Given the description of an element on the screen output the (x, y) to click on. 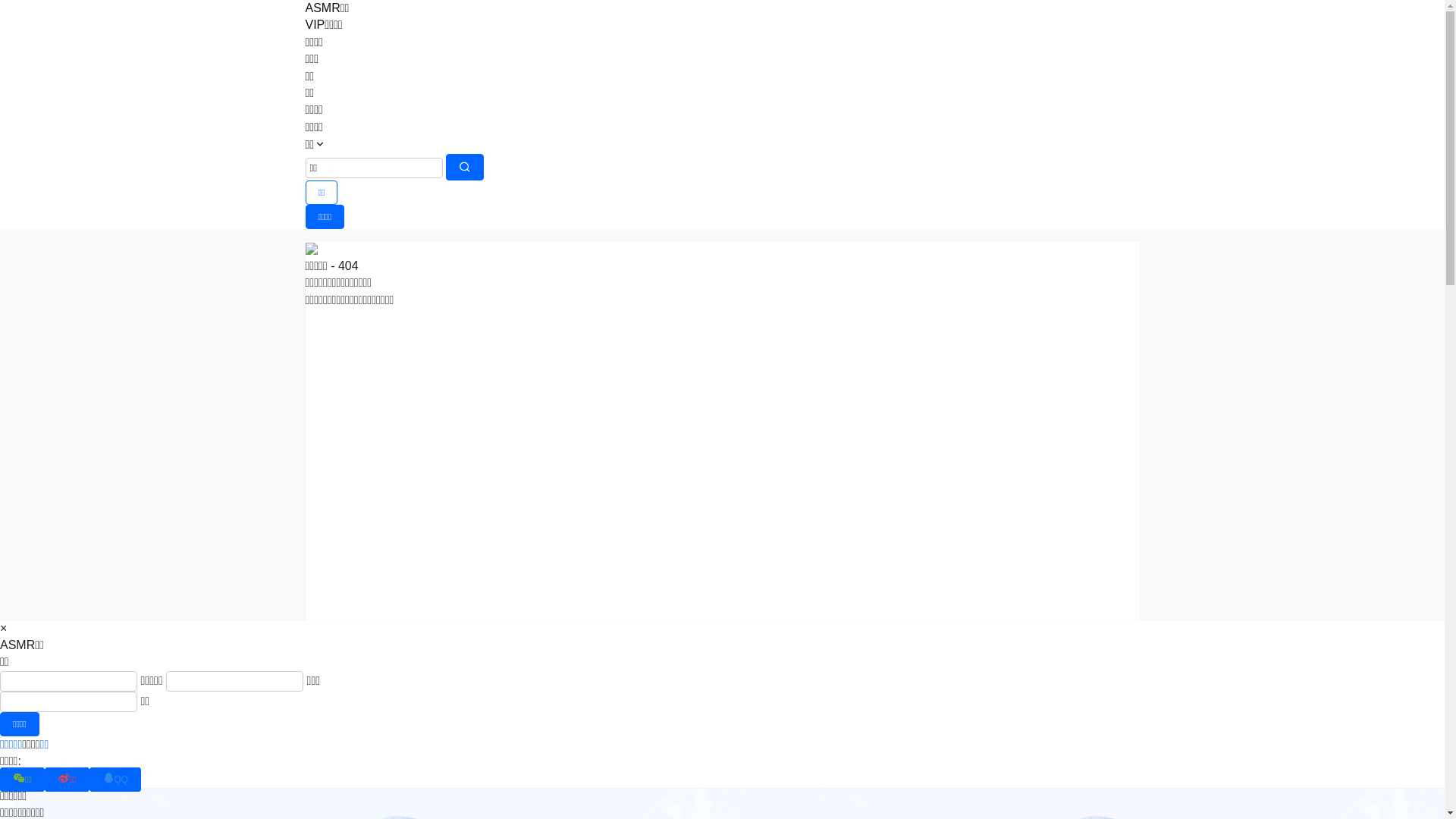
ok Element type: text (10, 10)
QQ Element type: text (115, 779)
